Given the description of an element on the screen output the (x, y) to click on. 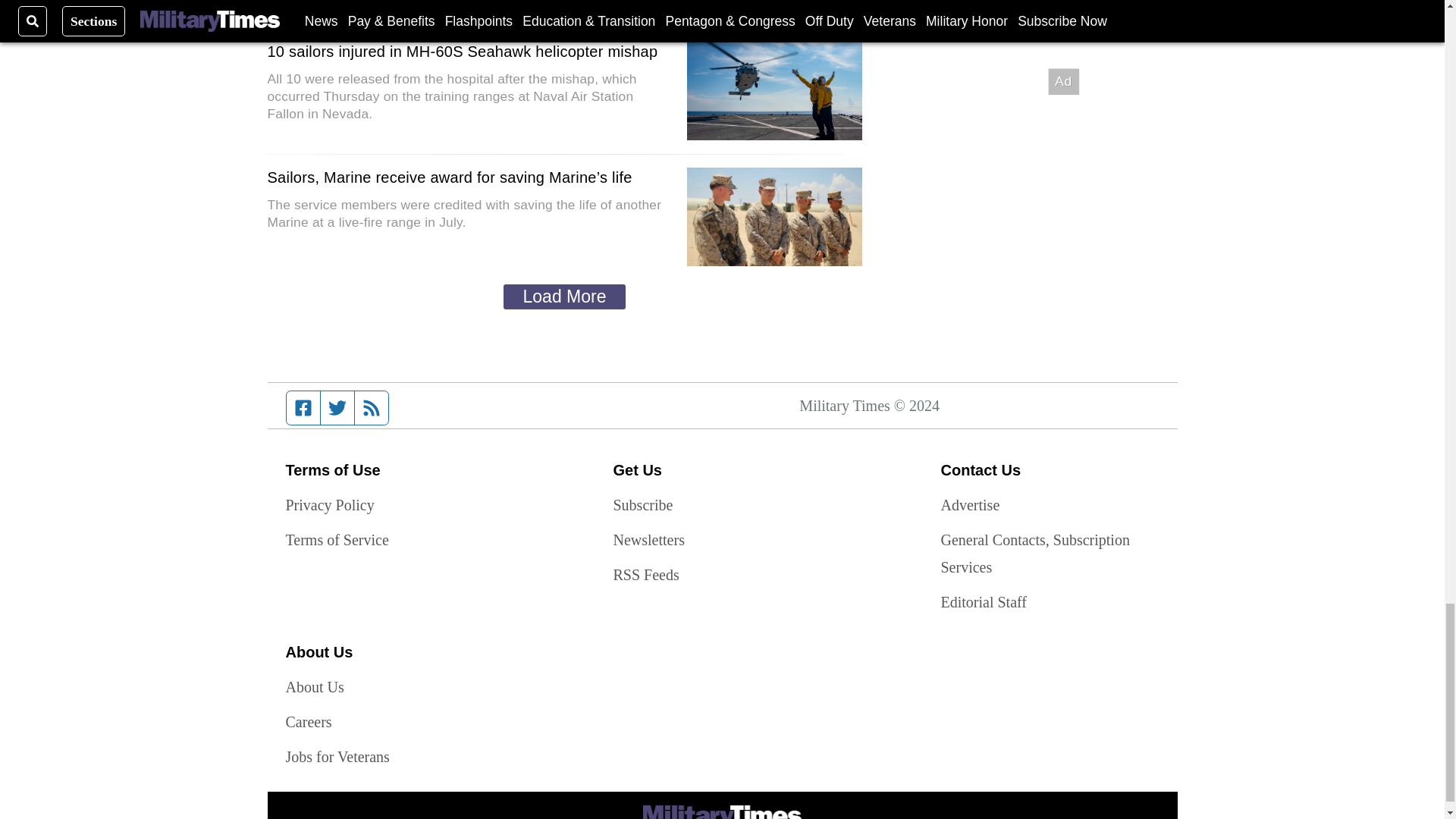
Twitter feed (336, 408)
RSS feed (371, 408)
Facebook page (303, 408)
